Given the description of an element on the screen output the (x, y) to click on. 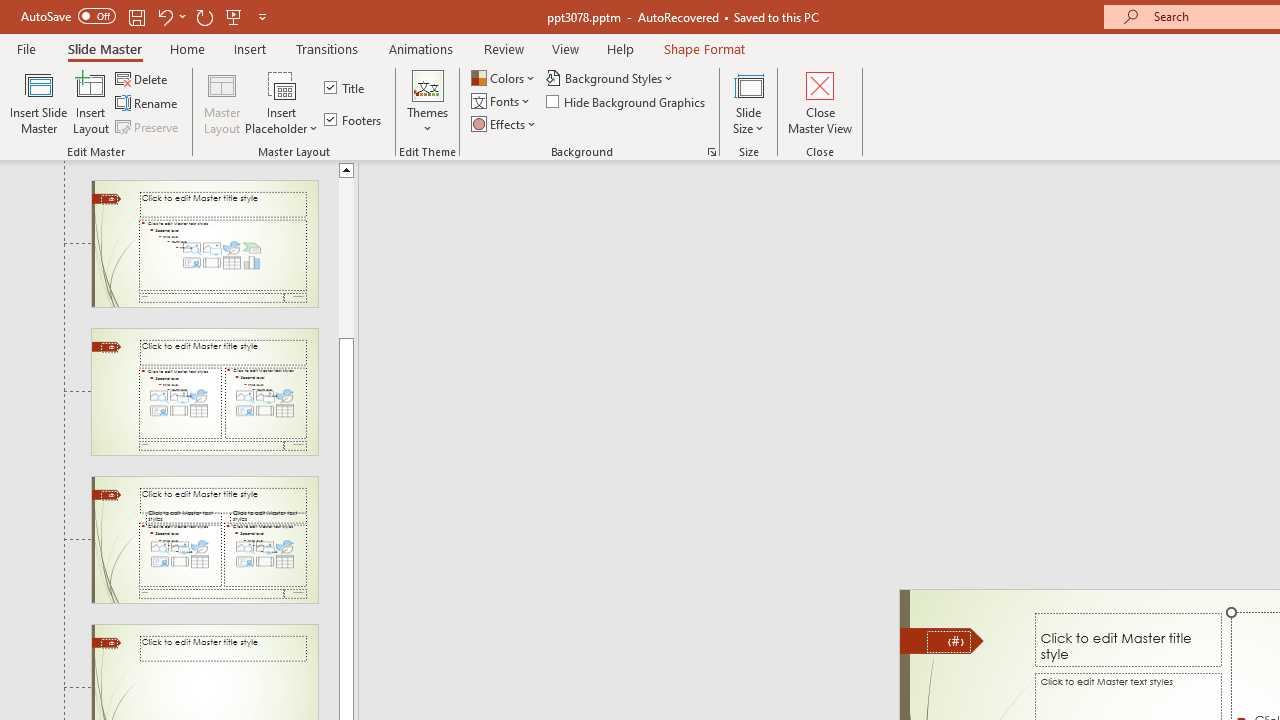
Effects (505, 124)
Preserve (148, 126)
Colors (504, 78)
Close Master View (820, 102)
Title (346, 87)
Insert Slide Master (38, 102)
